Given the description of an element on the screen output the (x, y) to click on. 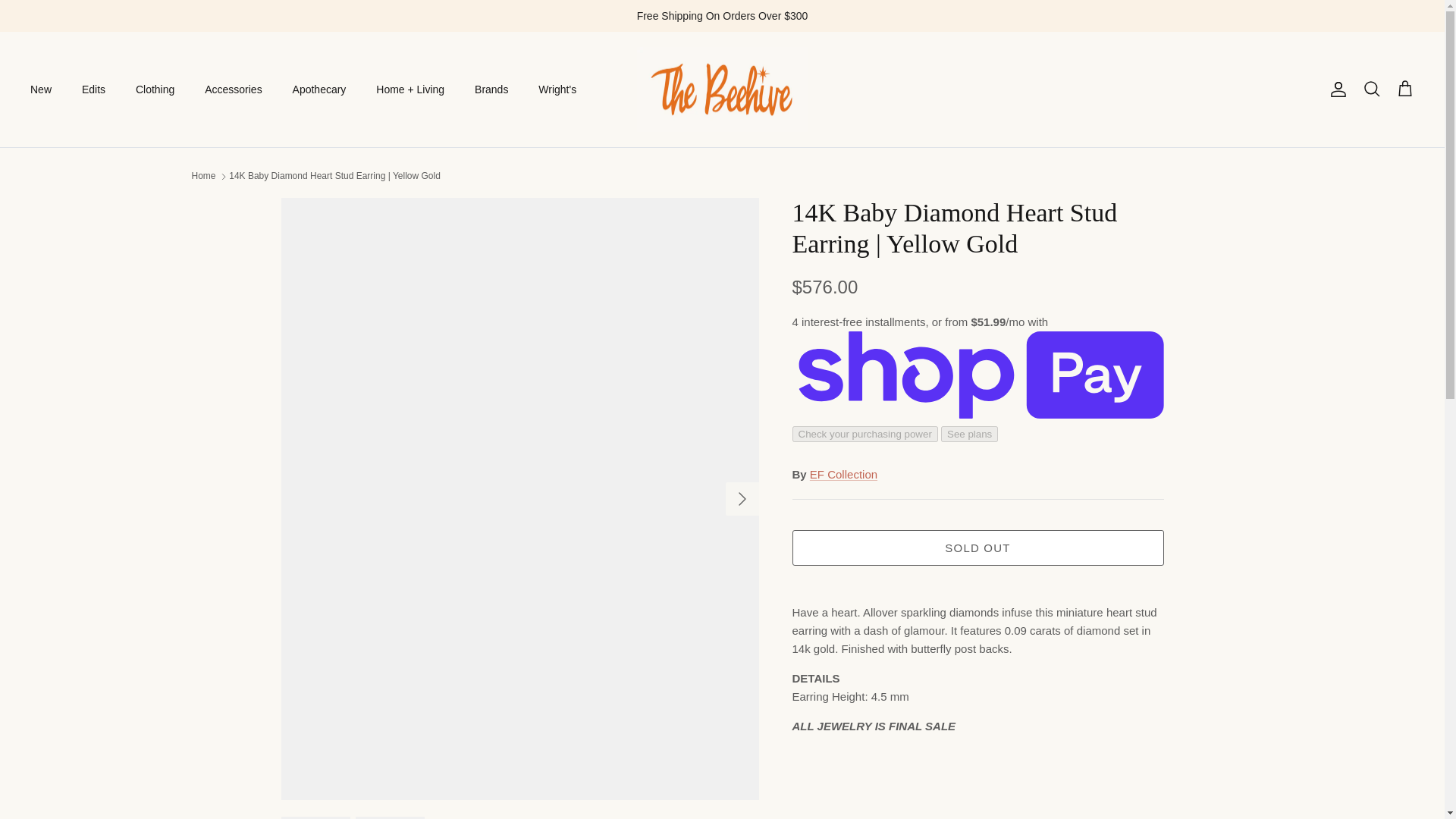
Brands (491, 89)
New (40, 89)
RIGHT (741, 498)
Wright's (556, 89)
Account (1335, 89)
The Beehive MB (722, 89)
Edits (93, 89)
Accessories (232, 89)
Clothing (154, 89)
Search (1371, 89)
